Given the description of an element on the screen output the (x, y) to click on. 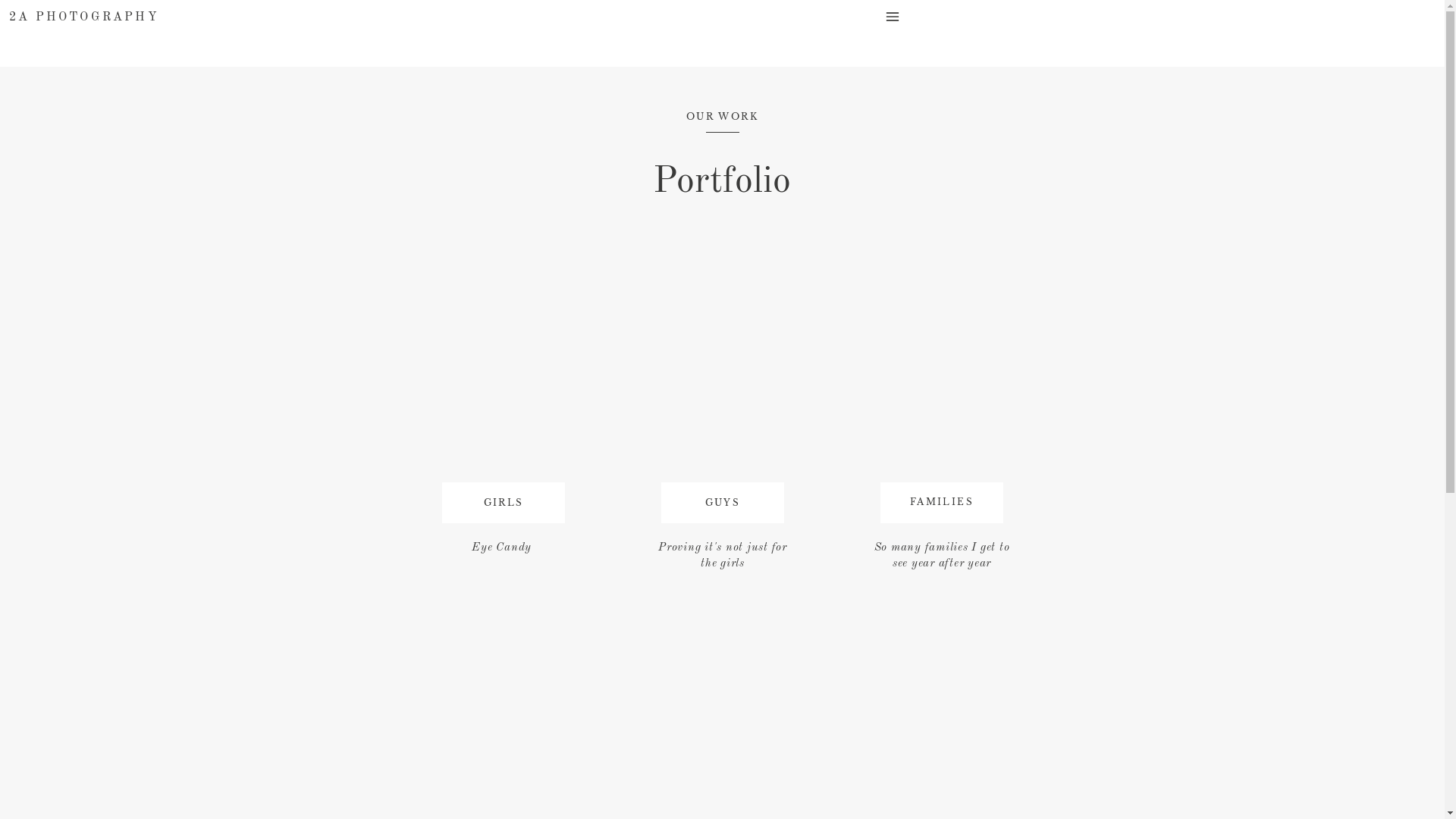
2A PHOTOGRAPHY Element type: text (84, 19)
GIRLS Element type: text (502, 505)
